Given the description of an element on the screen output the (x, y) to click on. 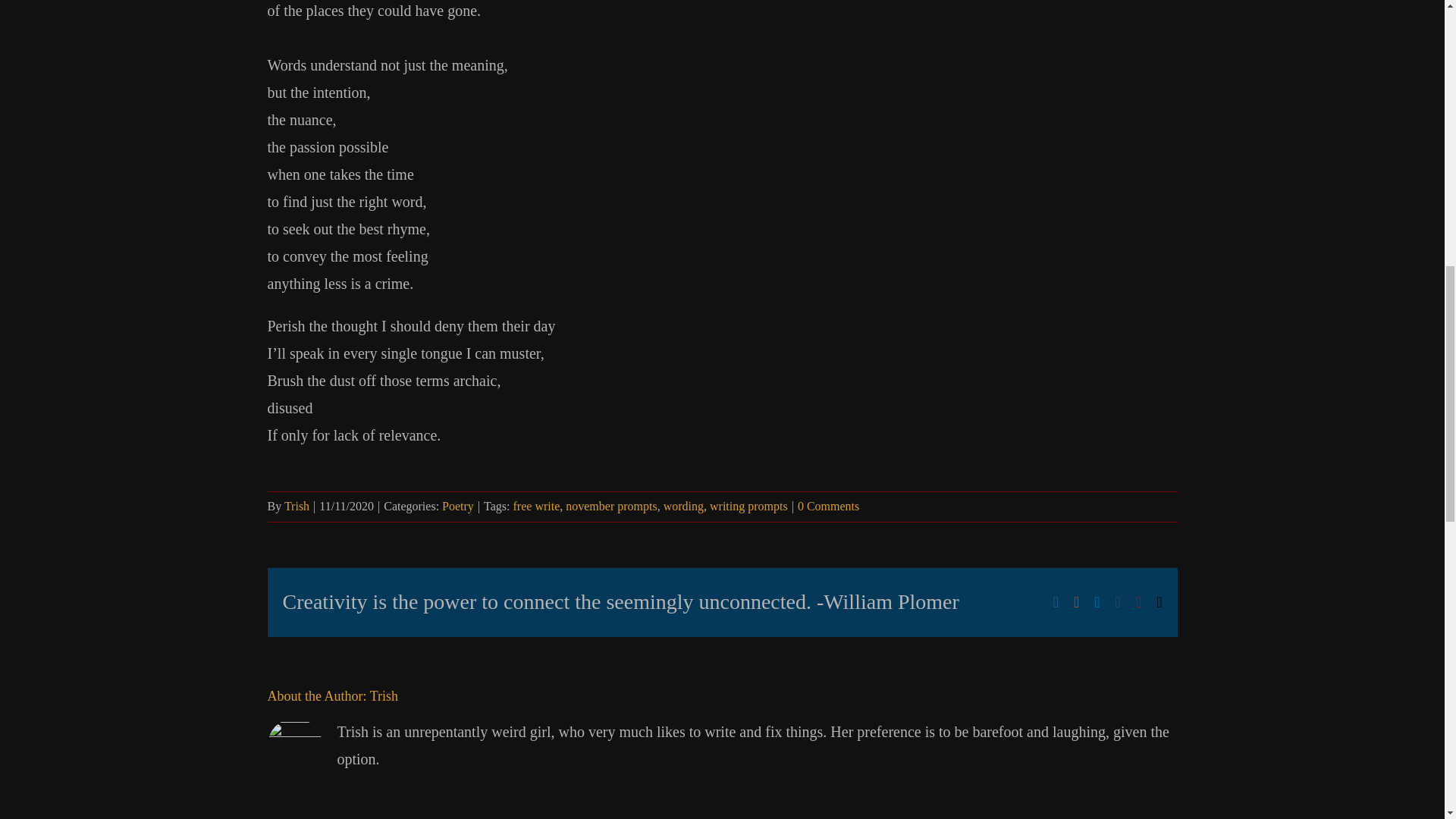
Posts by Trish (295, 505)
free write (536, 505)
writing prompts (748, 505)
Trish (295, 505)
november prompts (611, 505)
Poetry (458, 505)
wording (683, 505)
0 Comments (828, 505)
Posts by Trish (383, 695)
Trish (383, 695)
